Given the description of an element on the screen output the (x, y) to click on. 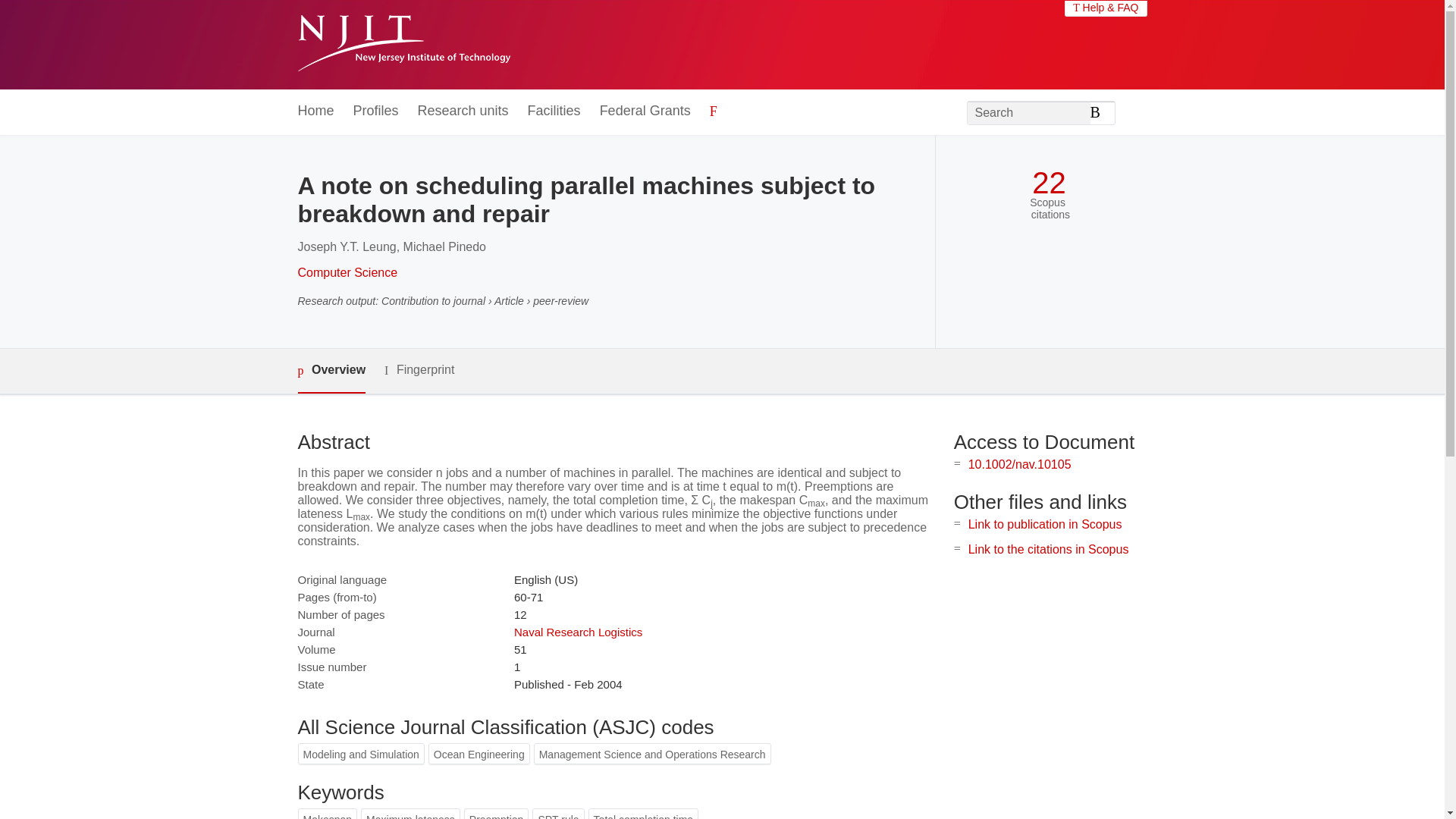
22 (1048, 182)
Link to the citations in Scopus (1048, 549)
Naval Research Logistics (577, 631)
Overview (331, 370)
Fingerprint (419, 370)
Facilities (553, 111)
New Jersey Institute of Technology Home (403, 44)
Federal Grants (644, 111)
Link to publication in Scopus (1045, 523)
Computer Science (347, 272)
Profiles (375, 111)
Research units (462, 111)
